Given the description of an element on the screen output the (x, y) to click on. 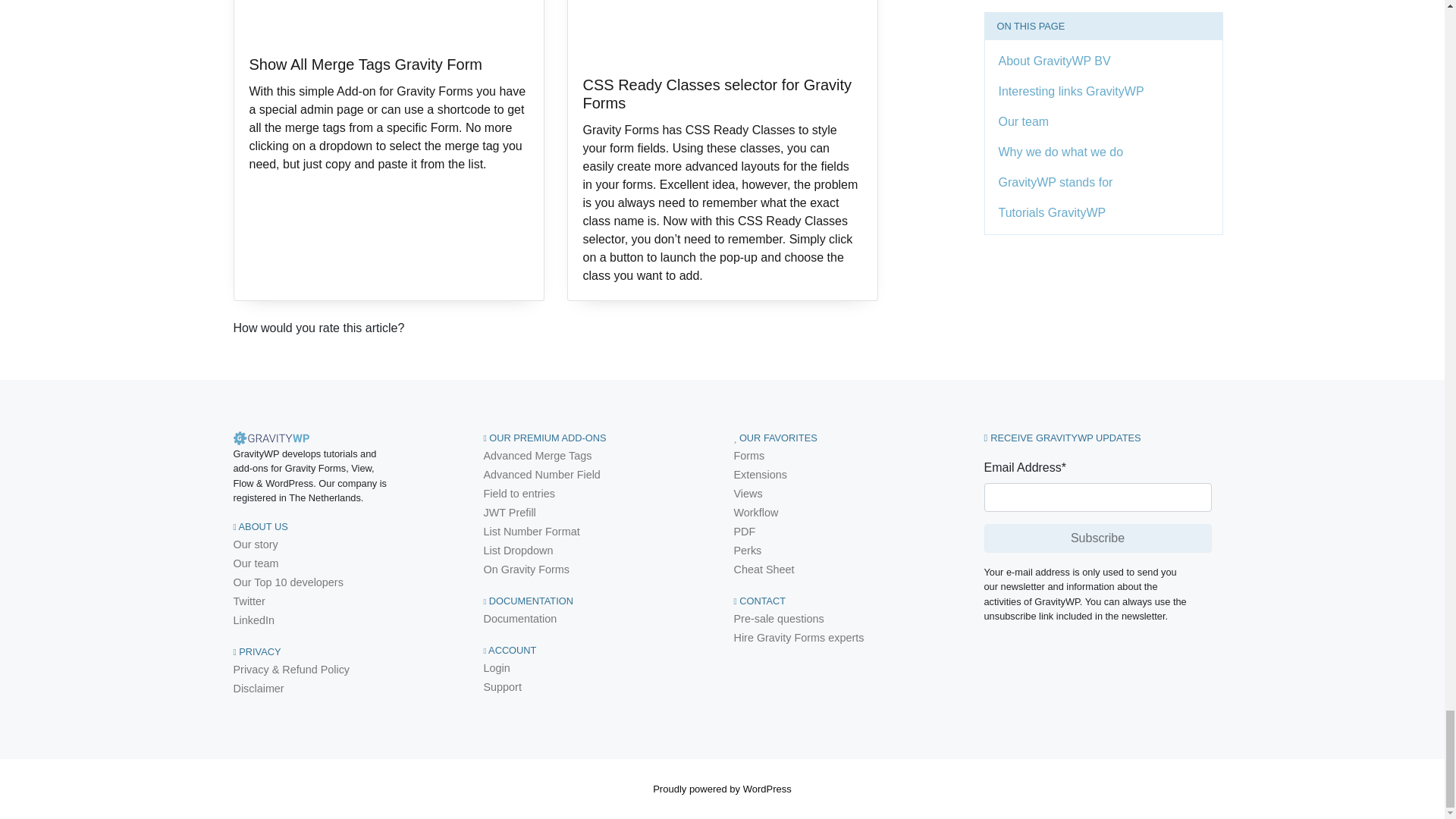
grating293651f04 (237, 347)
grating204bdf847 (237, 347)
grating235def00a (237, 347)
grating2c5edd2f1 (237, 347)
Subscribe (1097, 538)
grating27e250d8d (237, 347)
